Given the description of an element on the screen output the (x, y) to click on. 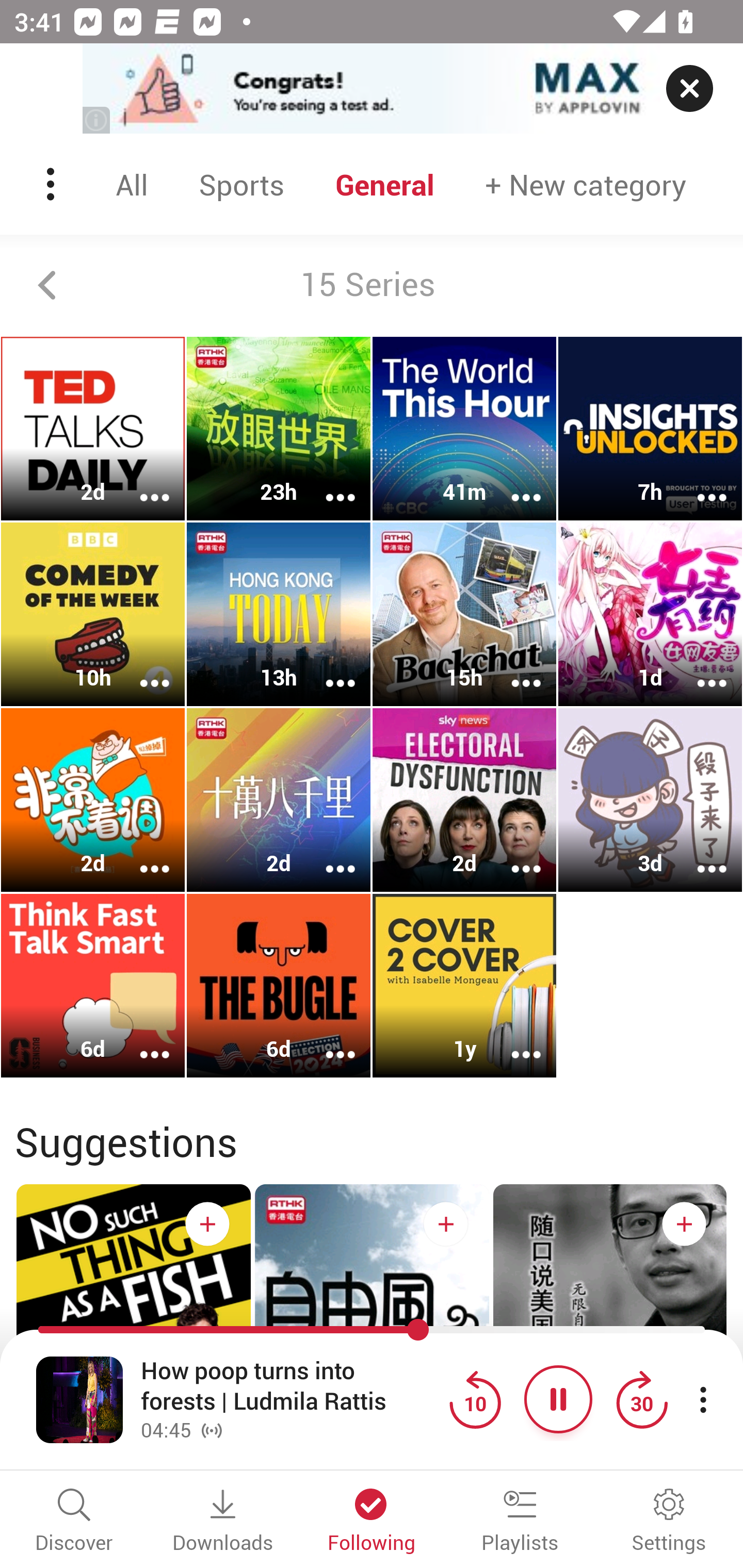
app-monetization (371, 88)
(i) (96, 119)
Menu (52, 184)
All (131, 184)
Sports (241, 184)
General (384, 184)
New category + New category (585, 184)
15 Series (371, 285)
TED Talks Daily 2d More options More options (92, 428)
放眼世界 23h More options More options (278, 428)
The World This Hour 41m More options More options (464, 428)
Insights Unlocked 7h More options More options (650, 428)
More options (141, 484)
More options (326, 484)
More options (512, 484)
More options (698, 484)
Comedy of the Week 10h More options More options (92, 614)
Hong Kong Today 13h More options More options (278, 614)
Backchat 15h More options More options (464, 614)
女王有药丨爆笑脱口秀 1d More options More options (650, 614)
More options (141, 669)
More options (326, 669)
More options (512, 669)
More options (698, 669)
非常不着调 2d More options More options (92, 799)
十萬八千里 2d More options More options (278, 799)
Electoral Dysfunction 2d More options More options (464, 799)
段子来了 3d More options More options (650, 799)
More options (141, 856)
More options (326, 856)
More options (512, 856)
More options (698, 856)
The Bugle 6d More options More options (278, 985)
Cover 2 Cover 1y More options More options (464, 985)
More options (141, 1041)
More options (326, 1041)
More options (512, 1041)
自由风自由PHONE 自由风自由PHONE Subscribe button (371, 1339)
随口说美国 随口说美国 Subscribe button (609, 1339)
Subscribe button (207, 1223)
Subscribe button (446, 1223)
Subscribe button (684, 1223)
Open fullscreen player (79, 1399)
More player controls (703, 1399)
How poop turns into forests | Ludmila Rattis (290, 1385)
Pause button (558, 1398)
Jump back (475, 1399)
Jump forward (641, 1399)
Discover (74, 1521)
Downloads (222, 1521)
Following (371, 1521)
Playlists (519, 1521)
Settings (668, 1521)
